Given the description of an element on the screen output the (x, y) to click on. 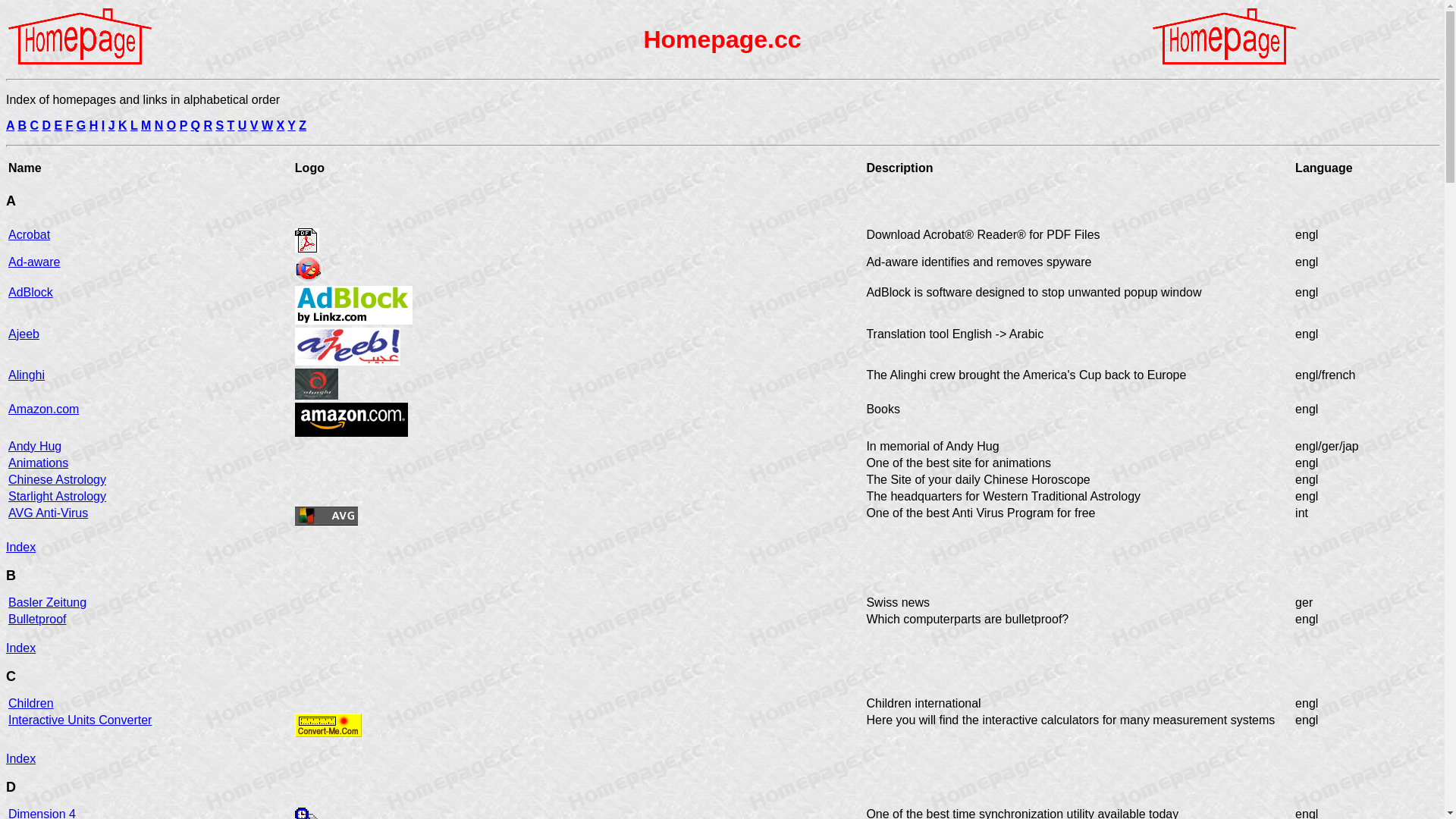
Andy Hug Element type: text (34, 445)
Interactive Units Converter Element type: text (79, 719)
S Element type: text (219, 125)
K Element type: text (122, 125)
X Element type: text (280, 125)
Chinese Astrology Element type: text (57, 479)
F Element type: text (69, 125)
P Element type: text (183, 125)
Amazon.com Element type: text (43, 408)
V Element type: text (254, 125)
D Element type: text (45, 125)
A Element type: text (10, 125)
AdBlock Element type: text (30, 291)
W Element type: text (267, 125)
Alinghi Element type: text (26, 374)
Z Element type: text (302, 125)
L Element type: text (133, 125)
R Element type: text (207, 125)
AVG Anti-Virus Element type: text (47, 512)
I Element type: text (102, 125)
O Element type: text (170, 125)
B Element type: text (21, 125)
J Element type: text (111, 125)
Basler Zeitung Element type: text (47, 602)
E Element type: text (57, 125)
M Element type: text (145, 125)
Index Element type: text (20, 553)
Acrobat Element type: text (29, 234)
Q Element type: text (195, 125)
G Element type: text (80, 125)
Bulletproof Element type: text (37, 618)
Children Element type: text (30, 702)
Starlight Astrology Element type: text (57, 495)
C Element type: text (33, 125)
N Element type: text (158, 125)
Ad-aware Element type: text (33, 261)
H Element type: text (93, 125)
U Element type: text (242, 125)
T Element type: text (231, 125)
Y Element type: text (290, 125)
Index Element type: text (20, 765)
Ajeeb Element type: text (23, 333)
Animations Element type: text (38, 462)
Index Element type: text (20, 654)
